Given the description of an element on the screen output the (x, y) to click on. 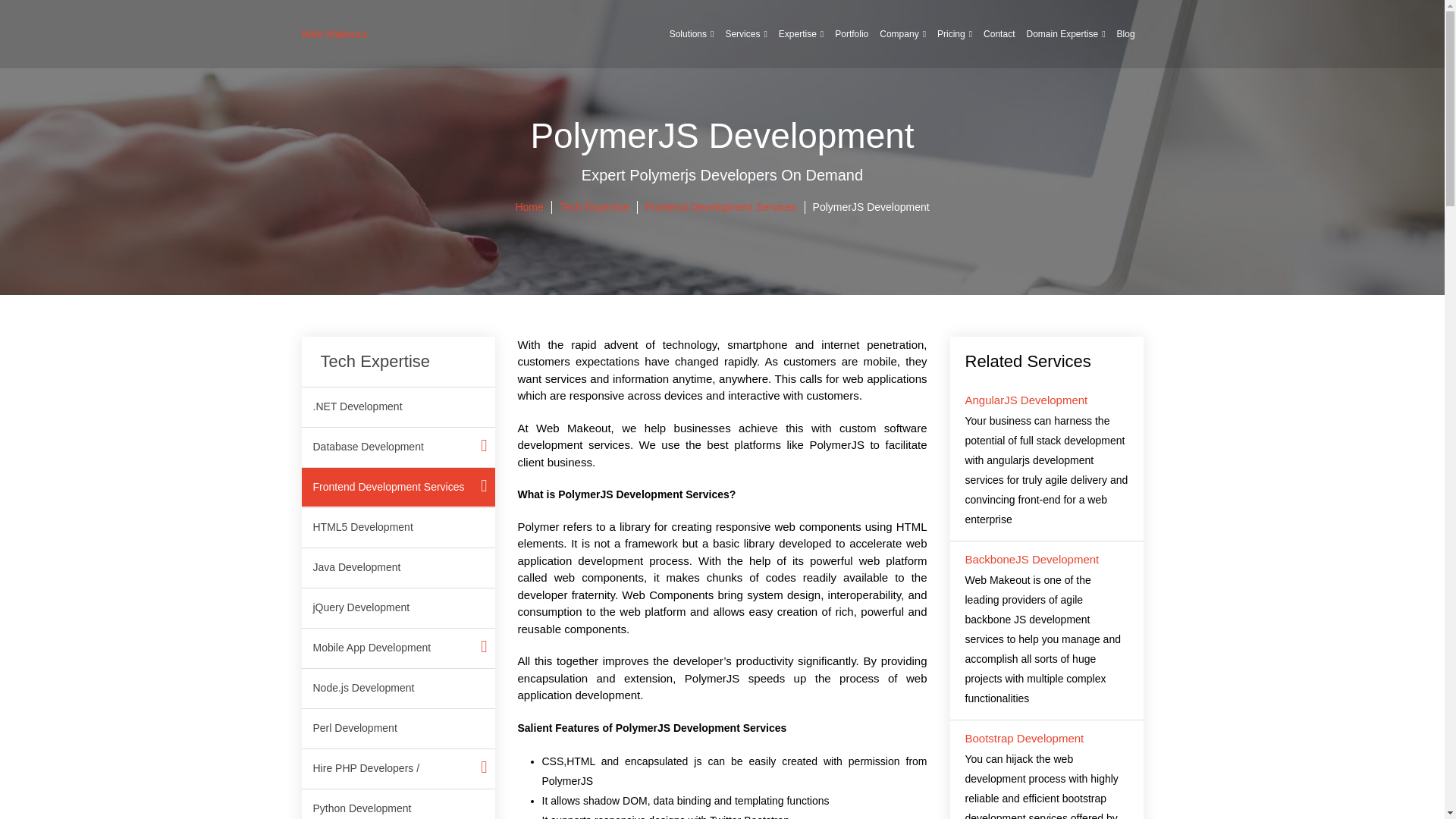
Services (745, 33)
Solutions (691, 33)
Go to Home Page (529, 206)
